Given the description of an element on the screen output the (x, y) to click on. 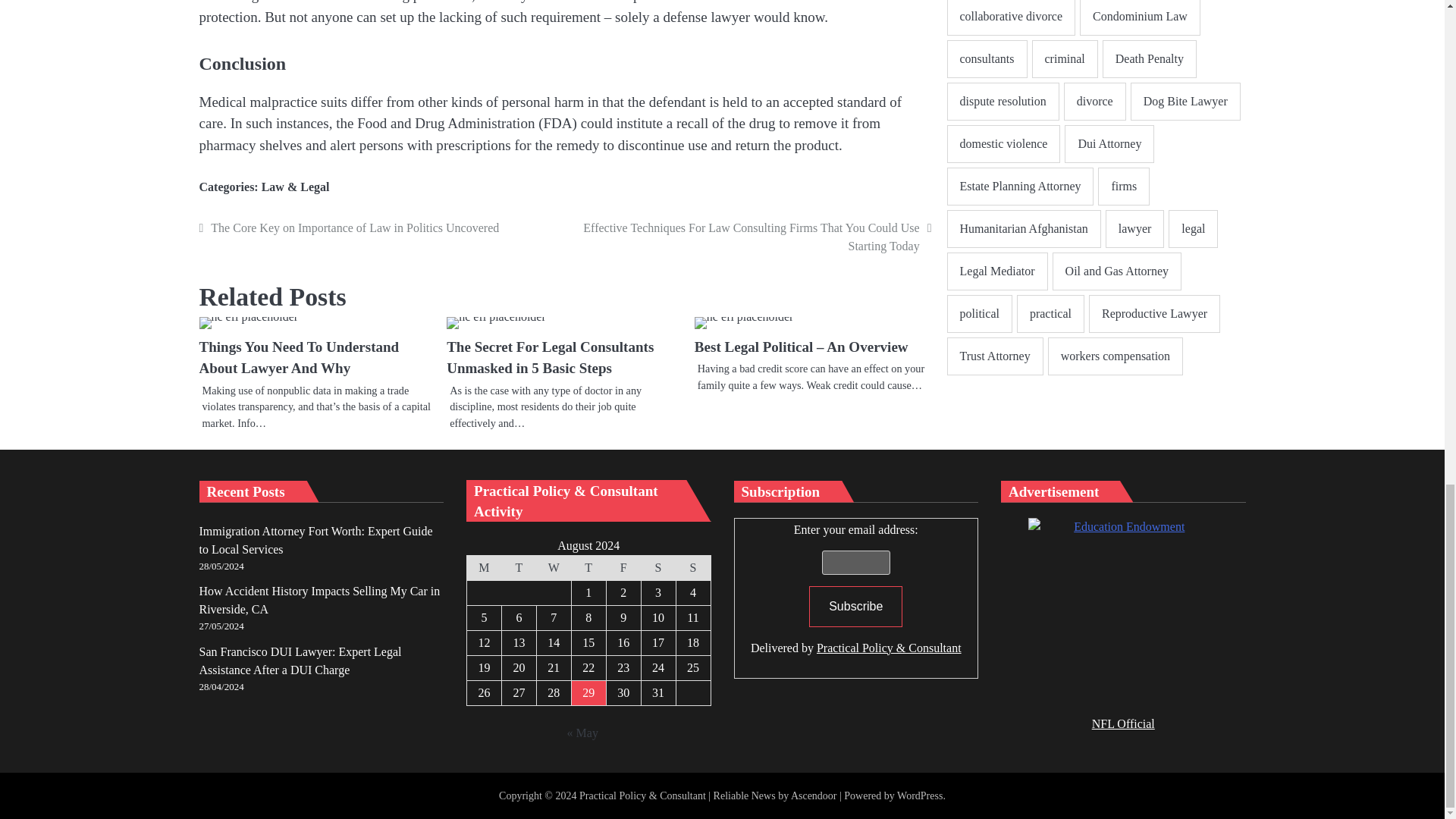
Things You Need To Understand About Lawyer And Why (248, 322)
Subscribe (855, 606)
Things You Need To Understand About Lawyer And Why (298, 357)
Tuesday (517, 568)
Thursday (587, 568)
Monday (484, 568)
Best Legal Political - An Overview (743, 322)
The Core Key on Importance of Law in Politics Uncovered (379, 228)
Wednesday (552, 568)
The Secret For Legal Consultants Unmasked in 5 Basic Steps (496, 322)
